Given the description of an element on the screen output the (x, y) to click on. 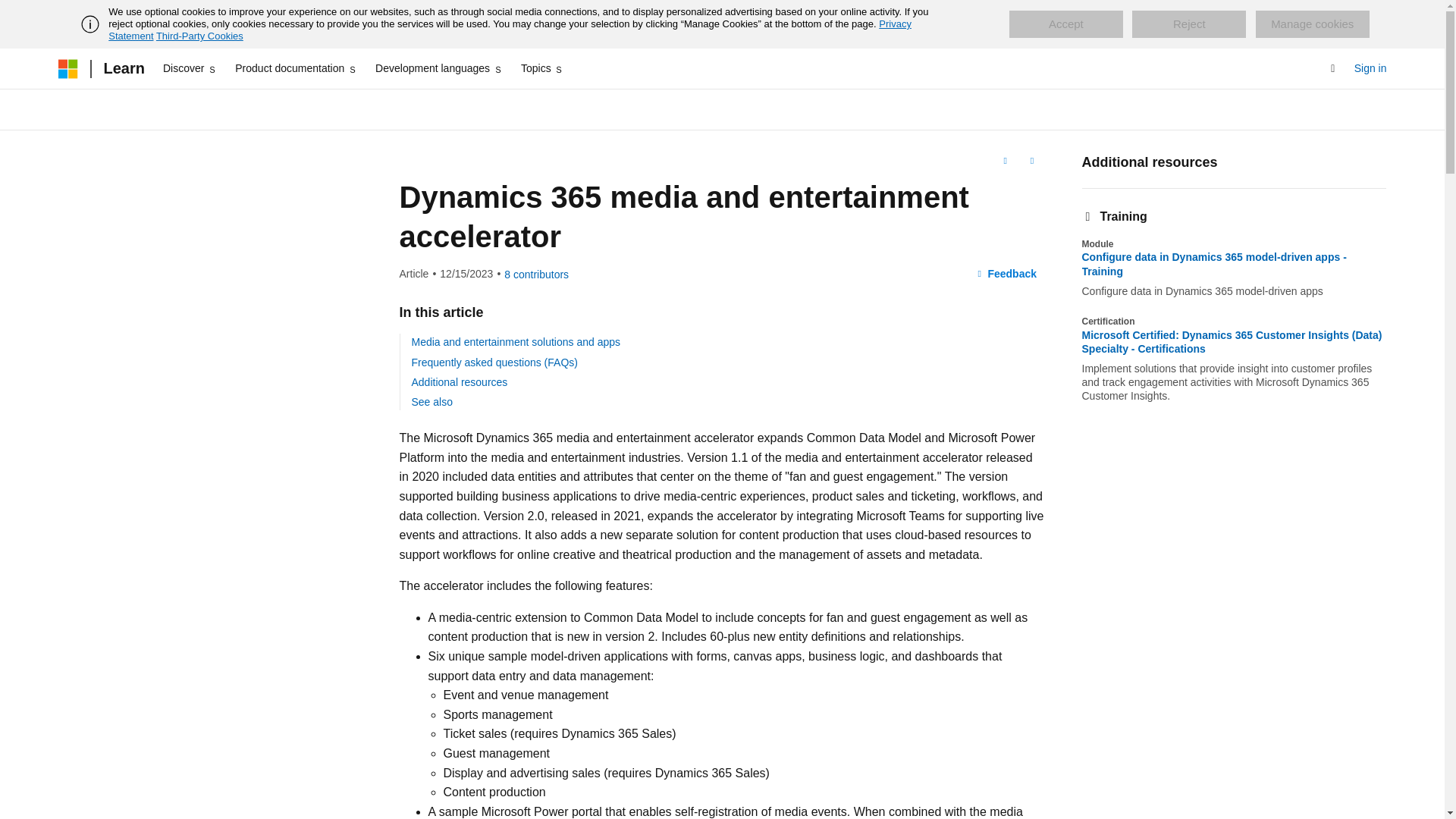
Sign in (1370, 68)
Product documentation (295, 68)
Accept (1065, 23)
Learn (123, 68)
Third-Party Cookies (199, 35)
Topics (542, 68)
Feedback (1005, 274)
8 contributors (536, 274)
More actions (1031, 160)
Discover (189, 68)
